Given the description of an element on the screen output the (x, y) to click on. 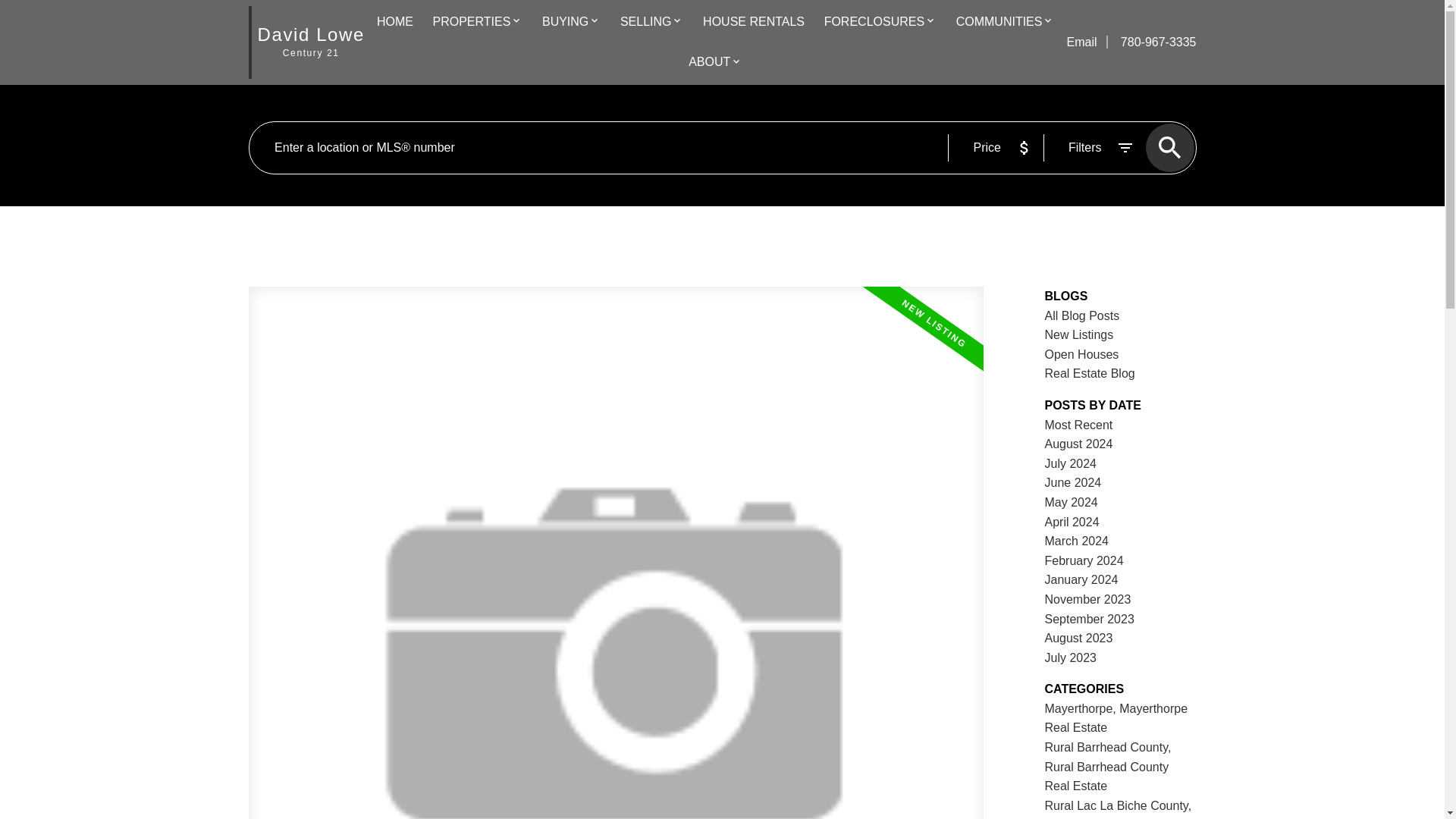
Real Estate Blog (1090, 373)
ABOUT (709, 62)
BUYING (564, 22)
PROPERTIES (471, 22)
HOUSE RENTALS (754, 22)
FORECLOSURES (874, 22)
SELLING (645, 22)
New Listings (1079, 334)
HOME (395, 22)
  780-967-3335 (1151, 42)
